Given the description of an element on the screen output the (x, y) to click on. 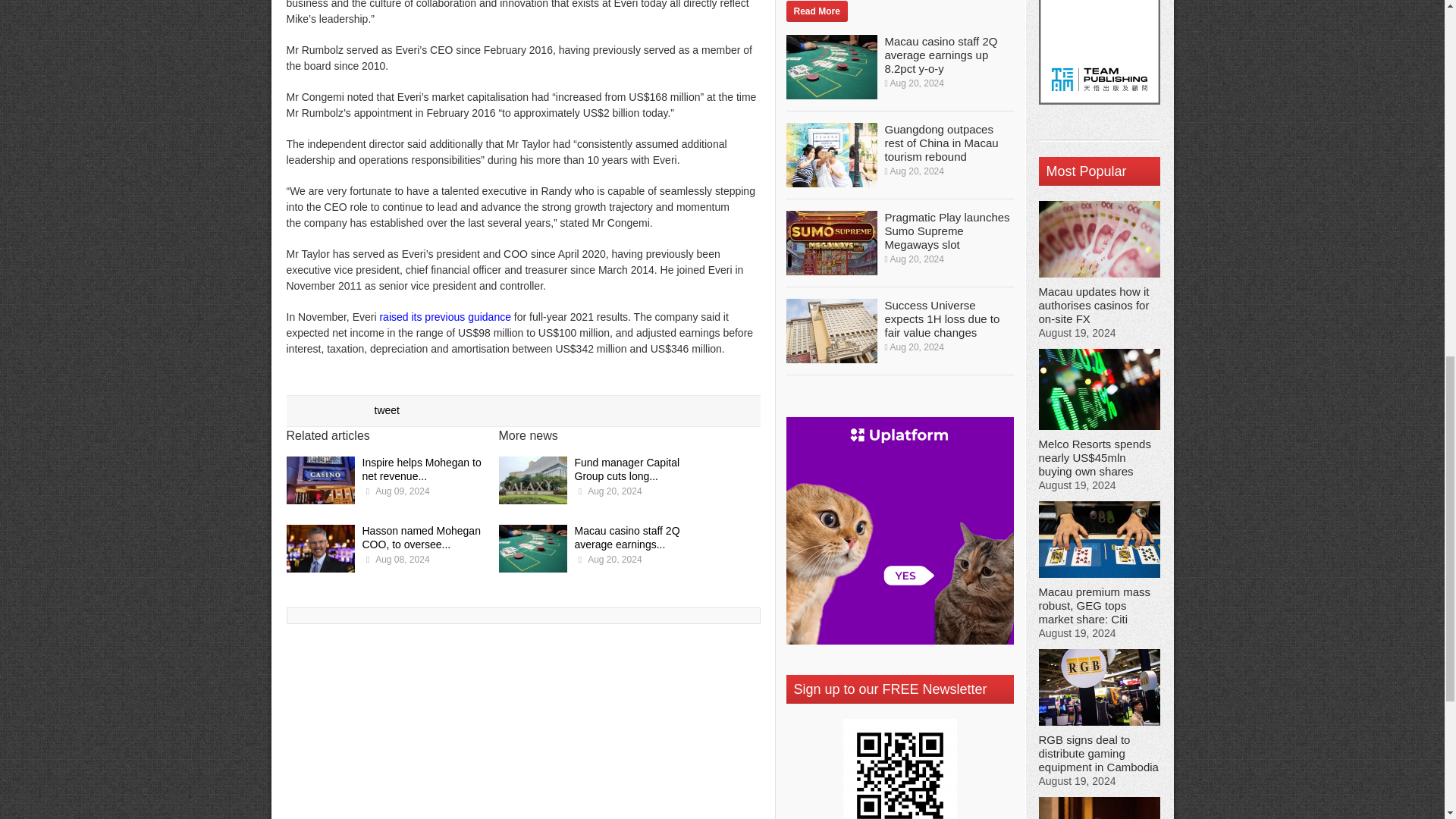
Fund manager Capital Group cuts long... (627, 469)
raised its previous guidance (444, 316)
Read More (816, 11)
Macau casino staff 2Q average earnings up 8.2pct y-o-y (533, 550)
Inspire helps Mohegan to net revenue... (421, 469)
Inspire helps Mohegan to net revenue record in fiscal 3Q (320, 482)
tweet (386, 410)
